Given the description of an element on the screen output the (x, y) to click on. 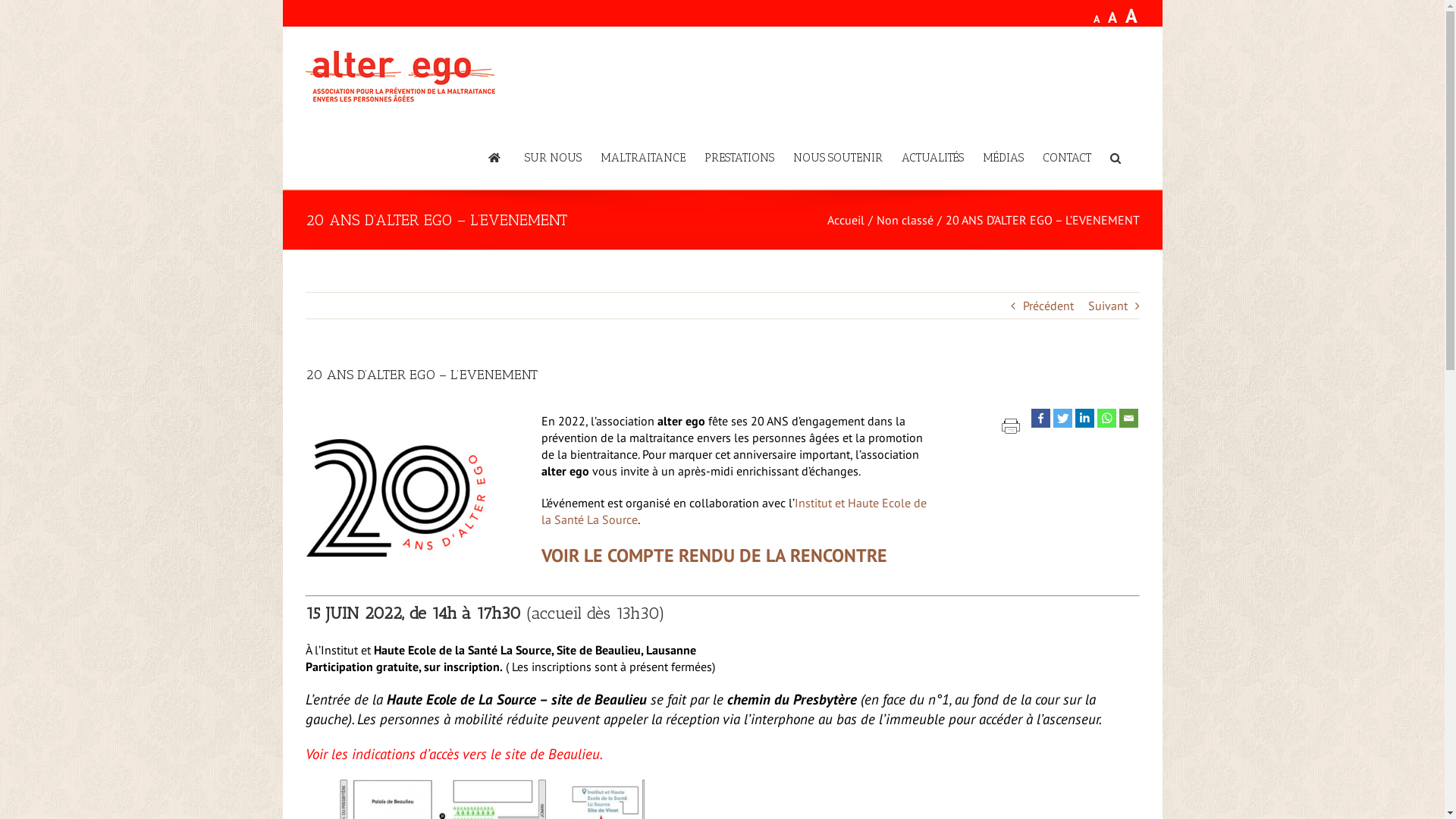
Printer Friendly, PDF & Email Element type: hover (1010, 427)
VOIR LE COMPTE RENDU DE LA RENCONTRE Element type: text (714, 555)
Accueil Element type: text (844, 219)
CONTACT Element type: text (1065, 156)
Linkedin Element type: hover (1084, 417)
MALTRAITANCE Element type: text (642, 156)
NOUS SOUTENIR Element type: text (837, 156)
Recherche Element type: hover (1115, 156)
Whatsapp Element type: hover (1105, 417)
A
Reset font size. Element type: text (1112, 17)
A
Decrease font size. Element type: text (1095, 18)
Suivant Element type: text (1106, 305)
A
Increase font size. Element type: text (1130, 15)
Twitter Element type: hover (1061, 417)
PRESTATIONS Element type: text (738, 156)
Email Element type: hover (1128, 417)
SUR NOUS Element type: text (552, 156)
Facebook Element type: hover (1040, 417)
